Given the description of an element on the screen output the (x, y) to click on. 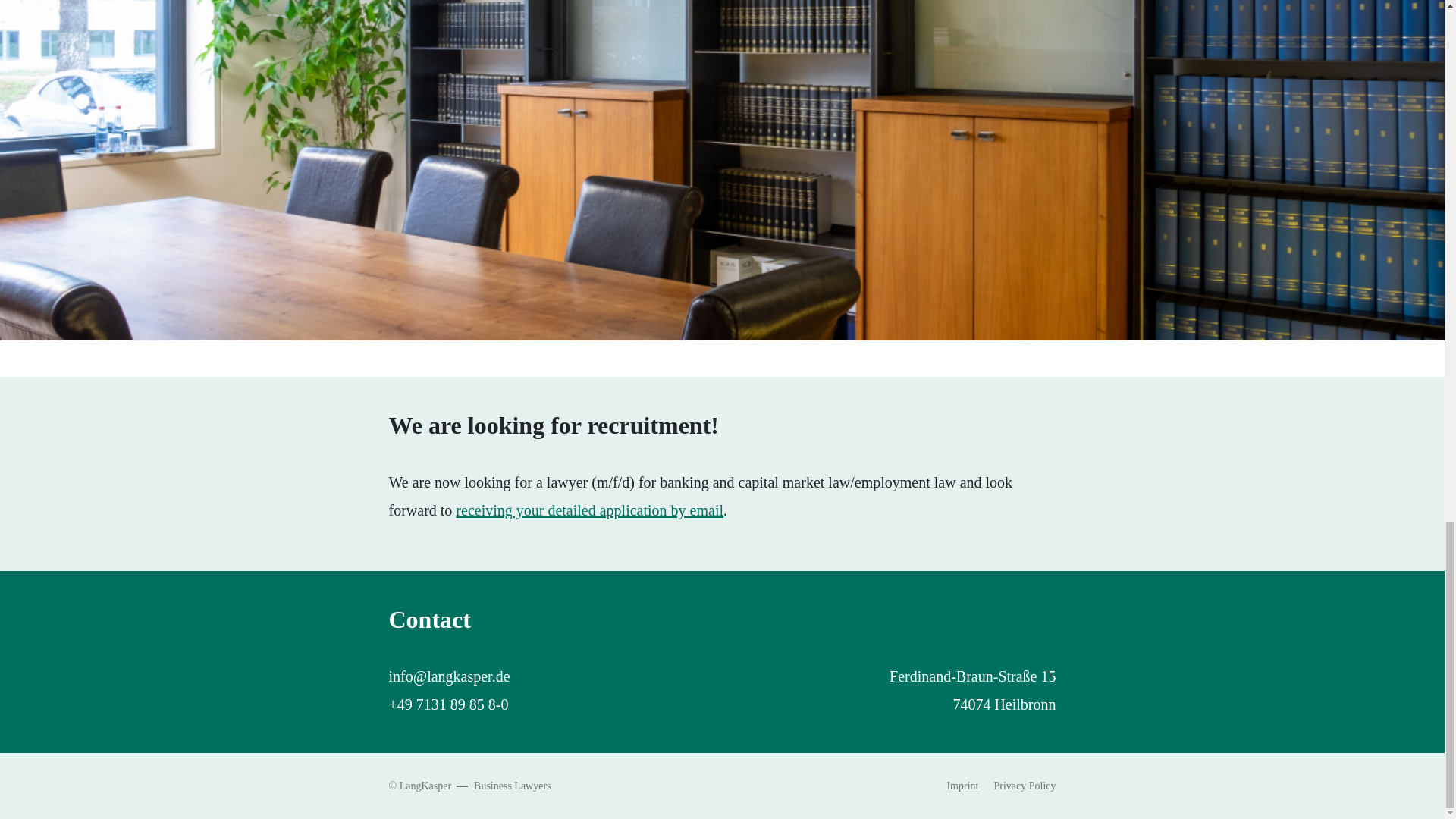
Privacy Policy (1023, 785)
receiving your detailed application by email (589, 510)
Imprint (962, 785)
